Given the description of an element on the screen output the (x, y) to click on. 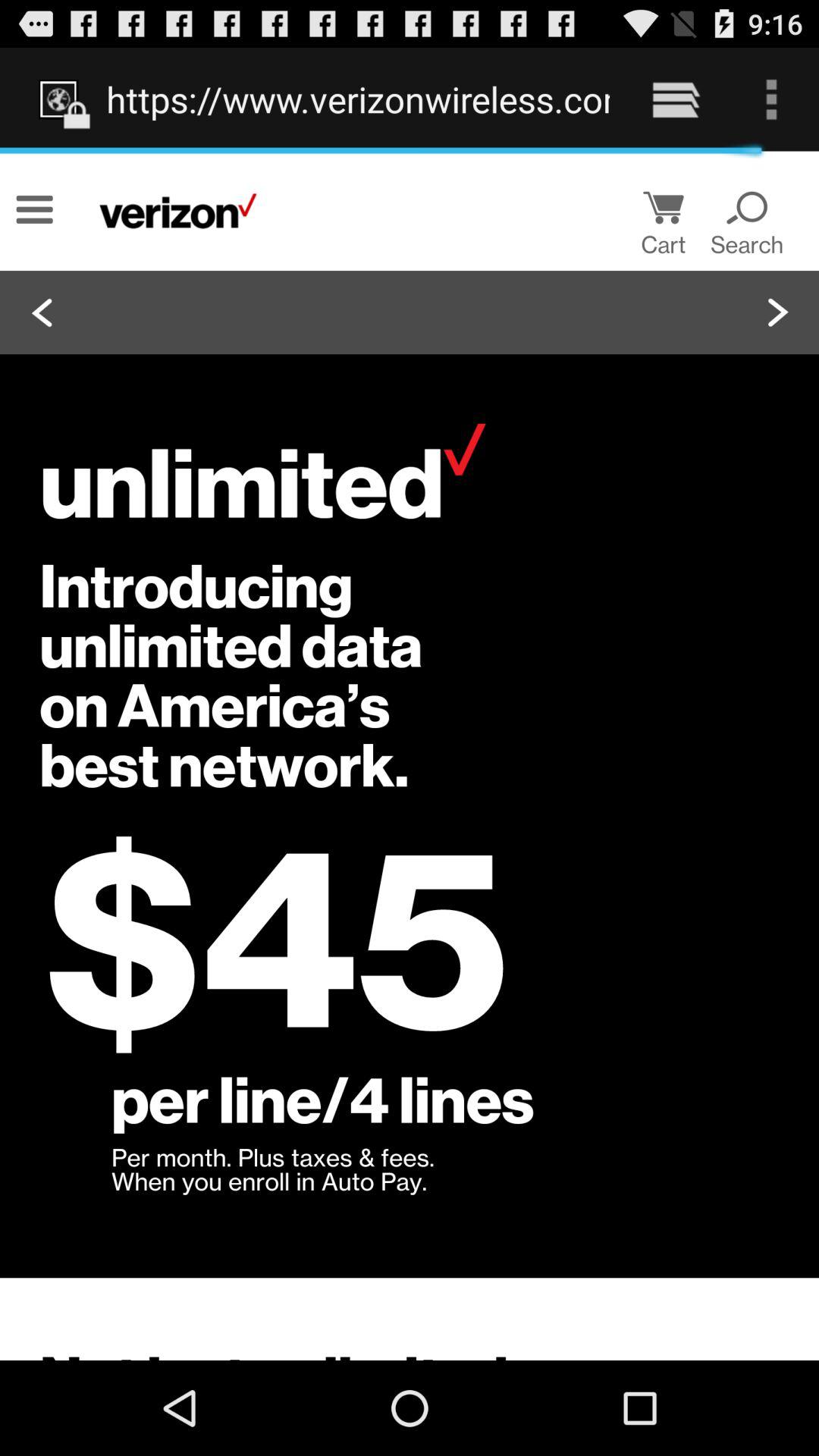
open icon next to the https www verizonwireless (675, 99)
